Given the description of an element on the screen output the (x, y) to click on. 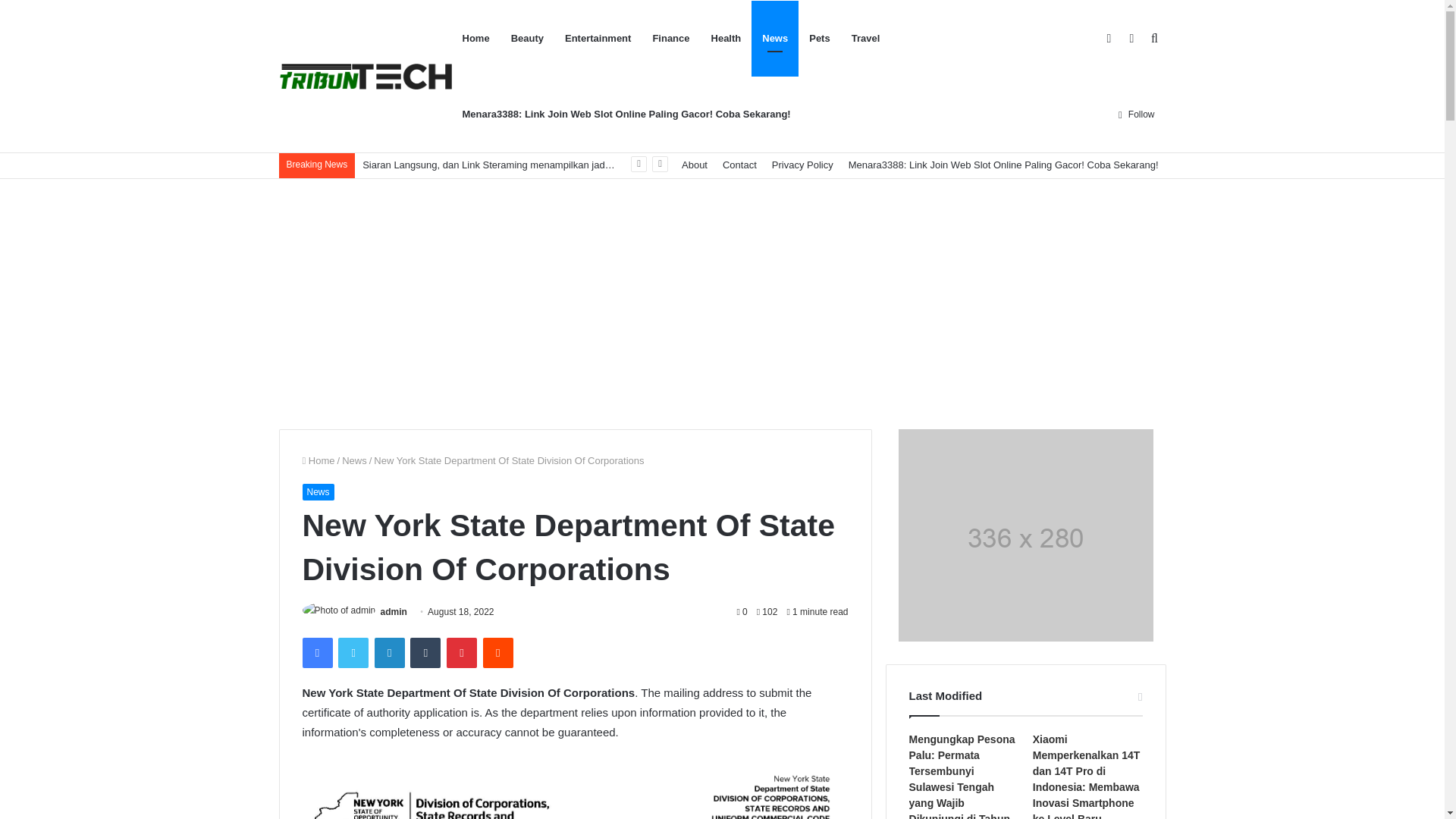
Home (317, 460)
News (774, 38)
admin (393, 611)
Pinterest (461, 653)
Entertainment (598, 38)
Contact (739, 164)
Beauty (527, 38)
Pets (818, 38)
admin (393, 611)
Finance (671, 38)
Tumblr (425, 653)
About (694, 164)
Pinterest (461, 653)
